Given the description of an element on the screen output the (x, y) to click on. 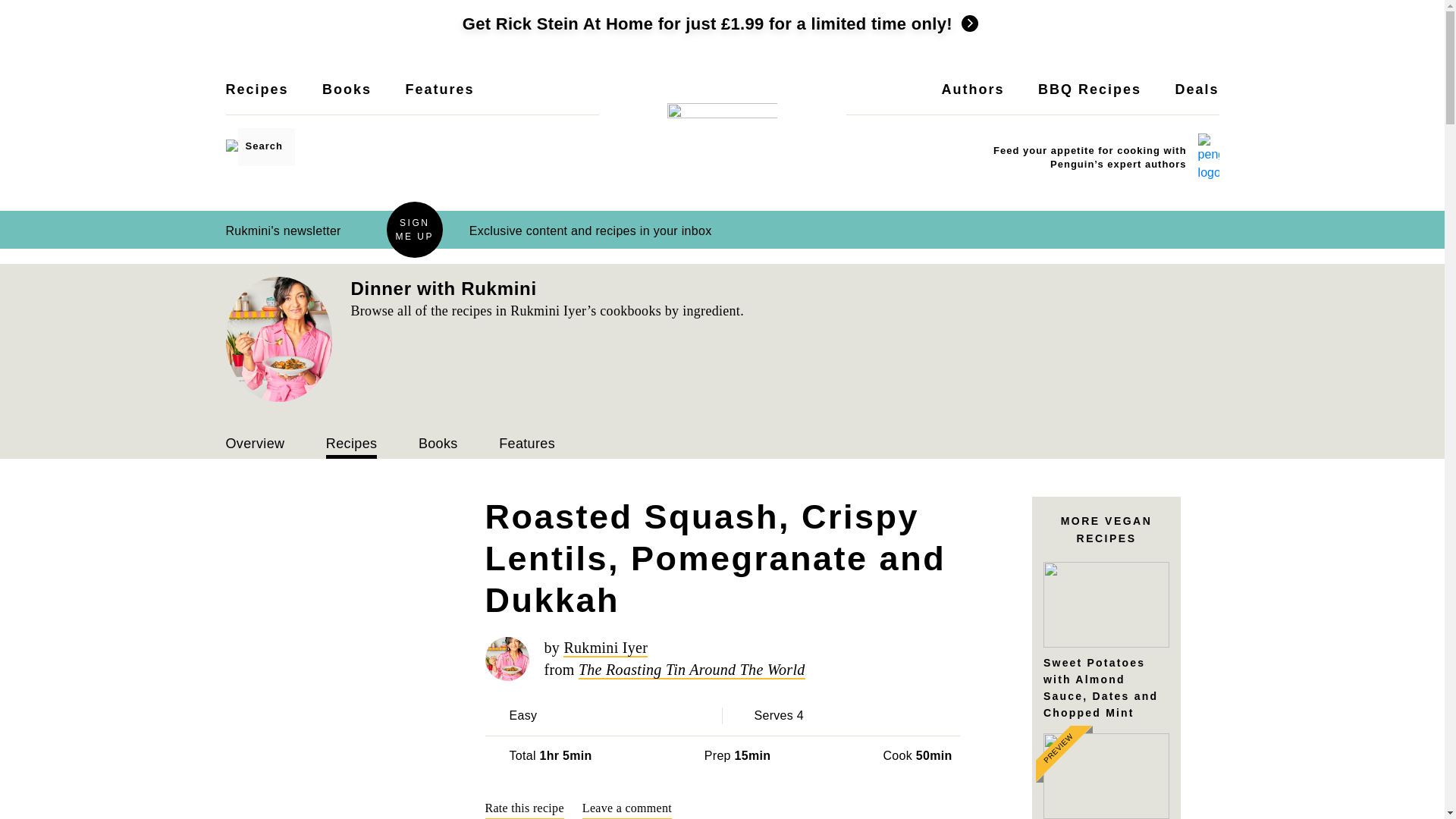
Authors (973, 98)
Deals (1196, 98)
Books (346, 98)
Recipes (256, 98)
BBQ Recipes (1089, 98)
Features (439, 98)
